Given the description of an element on the screen output the (x, y) to click on. 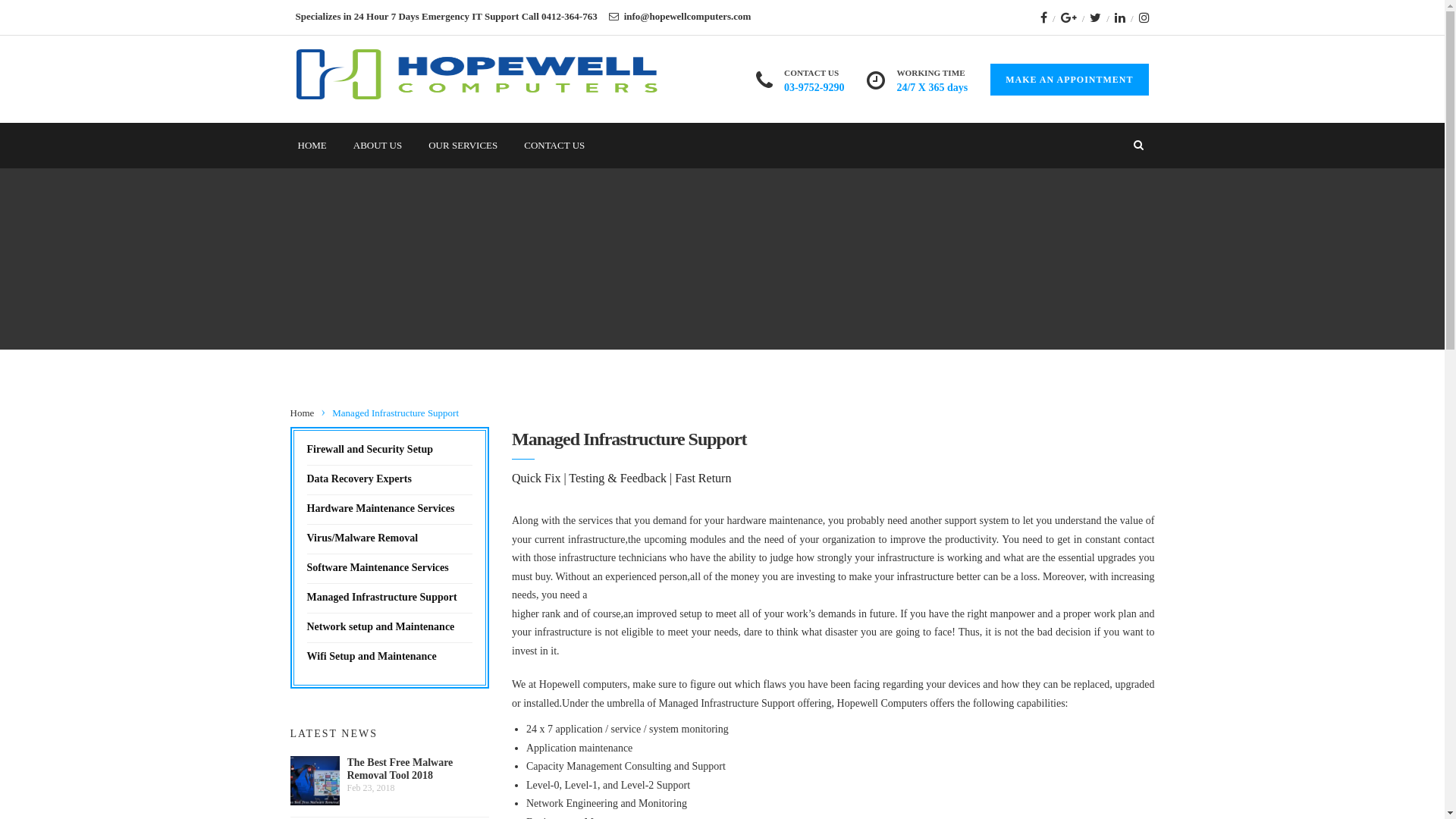
The Best Free Malware Removal Tool 2018 Element type: hover (313, 780)
Managed Infrastructure Support Element type: text (381, 596)
Google+ Element type: hover (1068, 17)
LinkedIn Element type: hover (1119, 17)
ABOUT US Element type: text (377, 145)
Hardware Maintenance Services Element type: text (380, 508)
Wifi Setup and Maintenance Element type: text (371, 656)
Facebook Element type: hover (1043, 17)
info@hopewellcomputers.com Element type: text (687, 15)
Twitter Element type: hover (1095, 17)
Data Recovery Experts Element type: text (358, 478)
MAKE AN APPOINTMENT Element type: text (1069, 79)
Network setup and Maintenance Element type: text (380, 626)
The Best Free Malware Removal Tool 2018 Element type: text (418, 768)
Instagram Element type: hover (1143, 17)
CONTACT US Element type: text (554, 145)
Home Element type: text (301, 412)
HOME Element type: text (311, 145)
Software Maintenance Services Element type: text (377, 567)
OUR SERVICES Element type: text (462, 145)
Firewall and Security Setup Element type: text (369, 449)
Virus/Malware Removal Element type: text (361, 537)
